Given the description of an element on the screen output the (x, y) to click on. 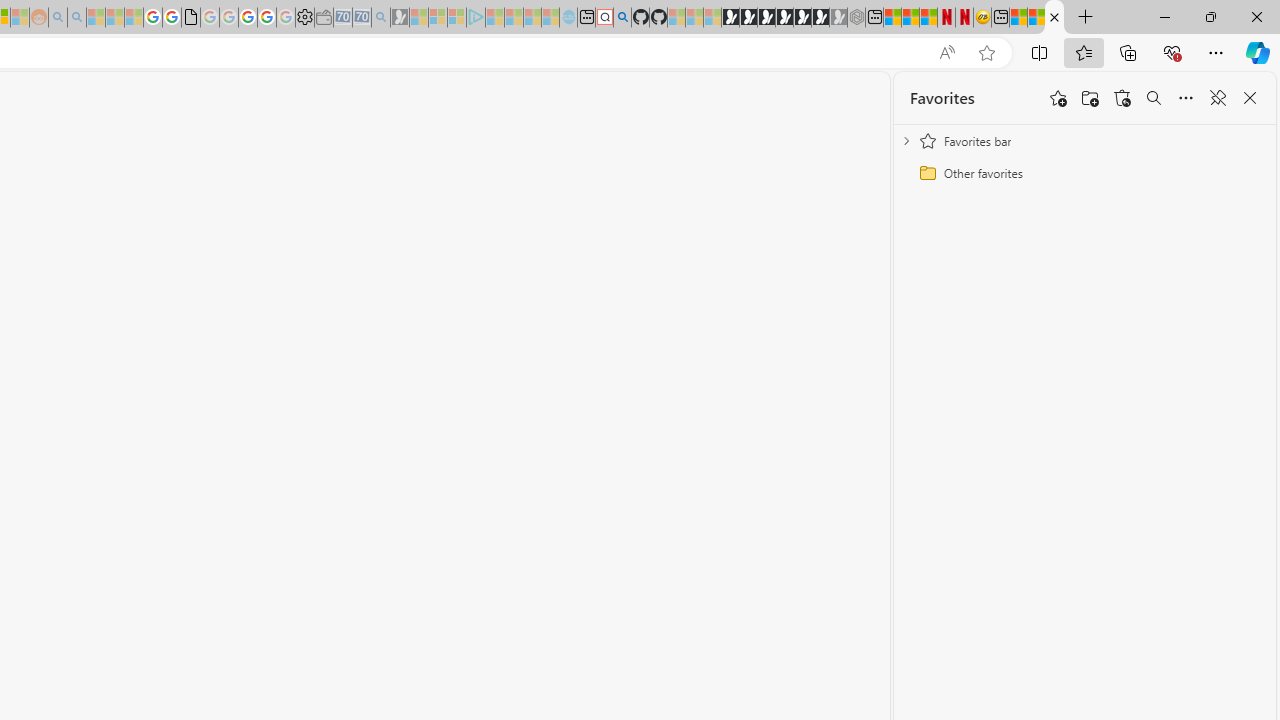
Close favorites (1250, 98)
New Tab (1085, 17)
Microsoft Start - Sleeping (532, 17)
Split screen (1039, 52)
Add folder (1089, 98)
Home | Sky Blue Bikes - Sky Blue Bikes - Sleeping (568, 17)
